Given the description of an element on the screen output the (x, y) to click on. 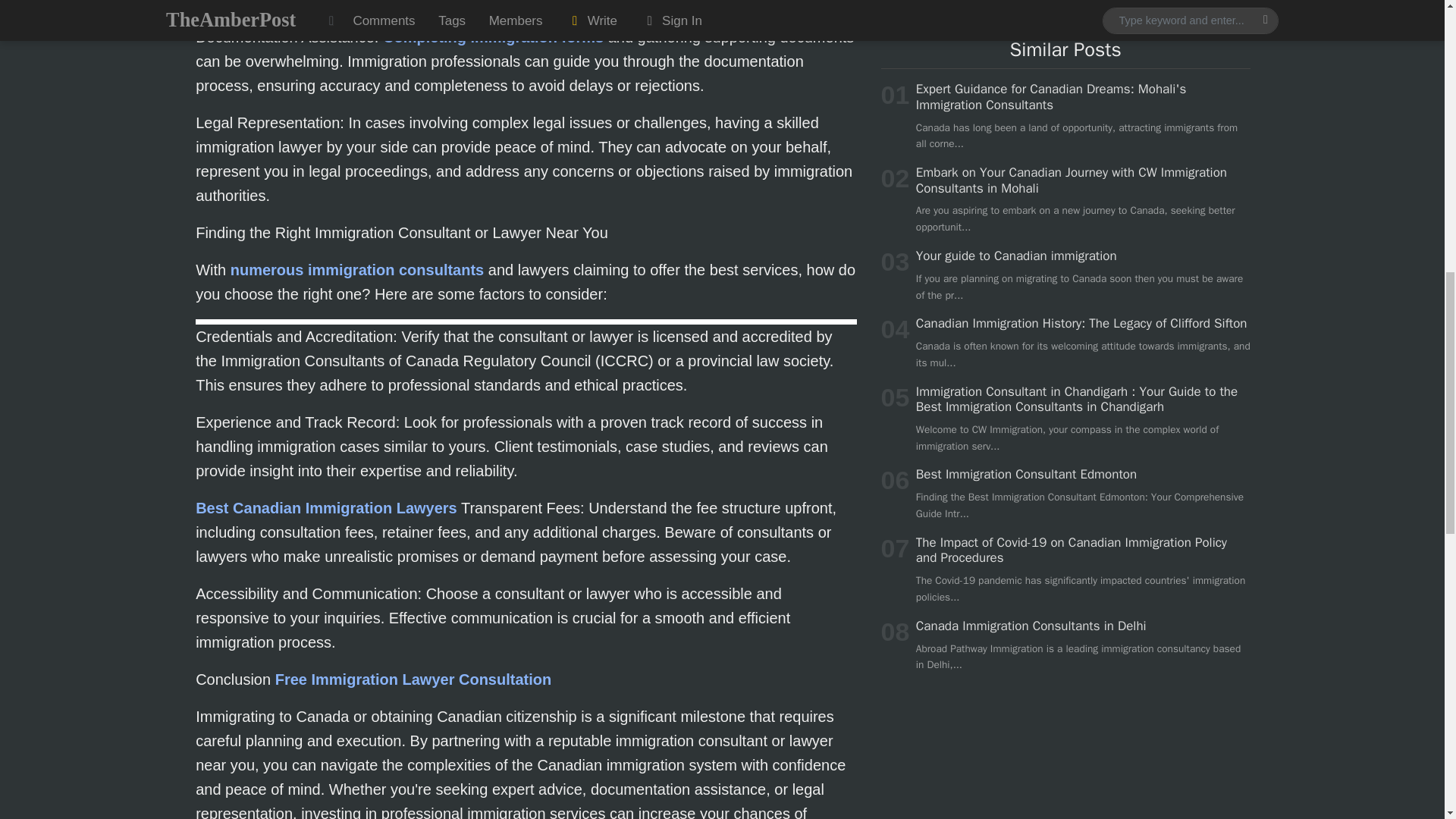
Free Immigration Lawyer Consultation (413, 678)
Completing immigration forms (493, 36)
numerous immigration consultants (356, 269)
Best Canadian Immigration Lawyers (326, 507)
